Given the description of an element on the screen output the (x, y) to click on. 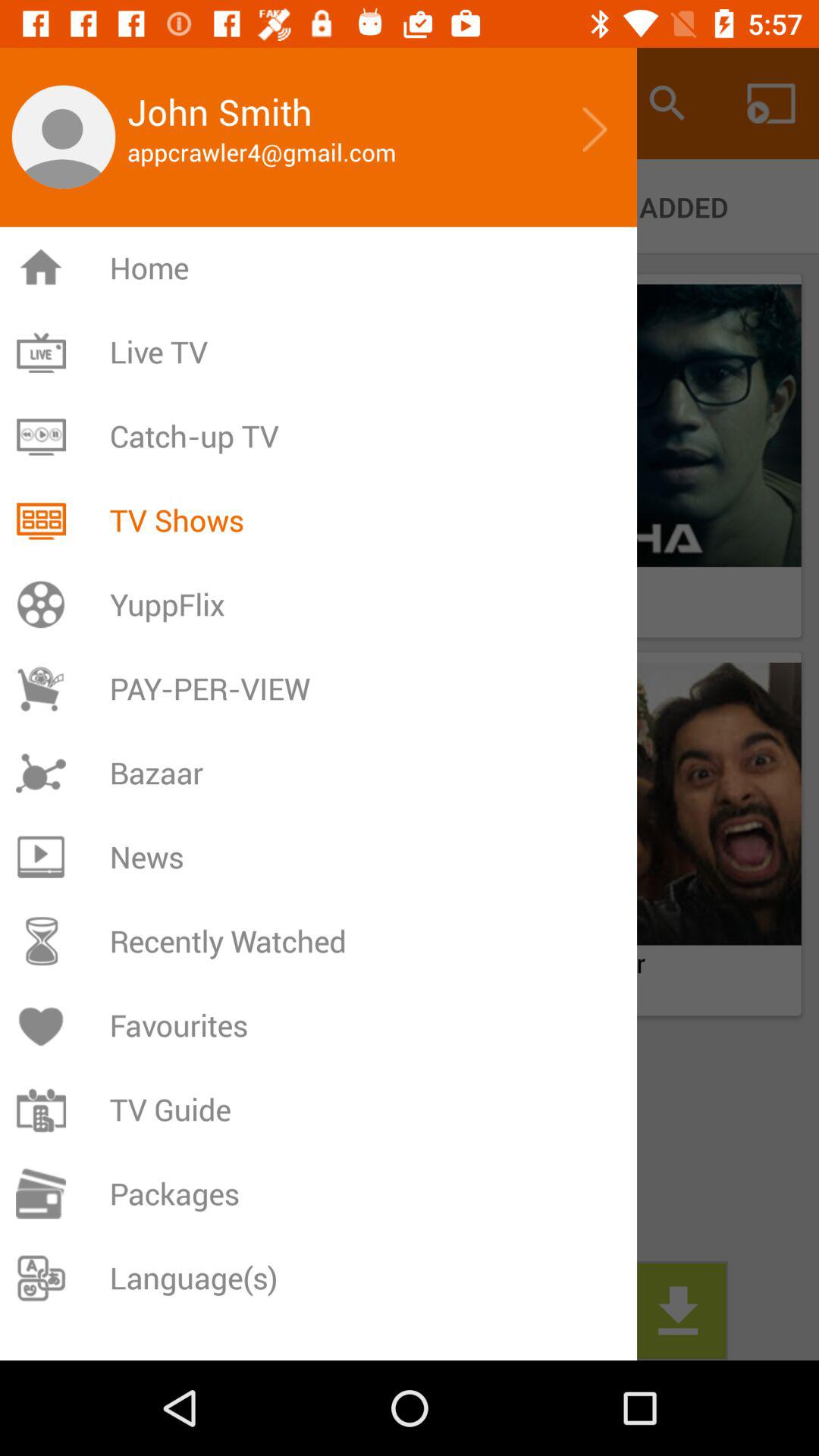
select the left side bottom image (608, 803)
